Given the description of an element on the screen output the (x, y) to click on. 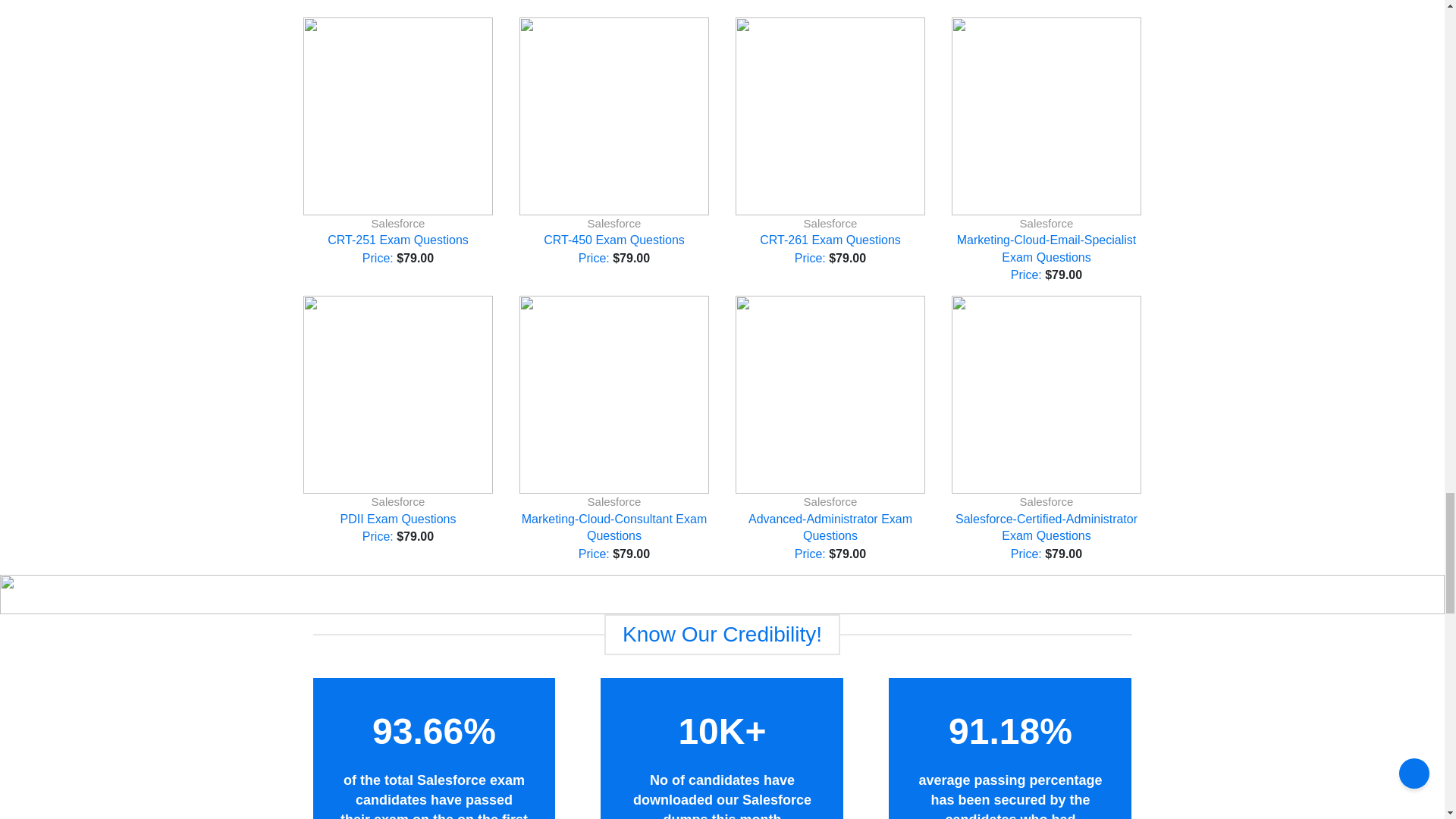
Salesforce-Certified-Administrator Exam Questions (1046, 527)
Marketing-Cloud-Email-Specialist Exam Questions (1046, 248)
PDII Exam Questions (398, 518)
Advanced-Administrator Exam Questions (830, 527)
CRT-261 Exam Questions (830, 239)
CRT-450 Exam Questions (613, 239)
Marketing-Cloud-Consultant Exam Questions (614, 527)
CRT-251 Exam Questions (397, 239)
